Given the description of an element on the screen output the (x, y) to click on. 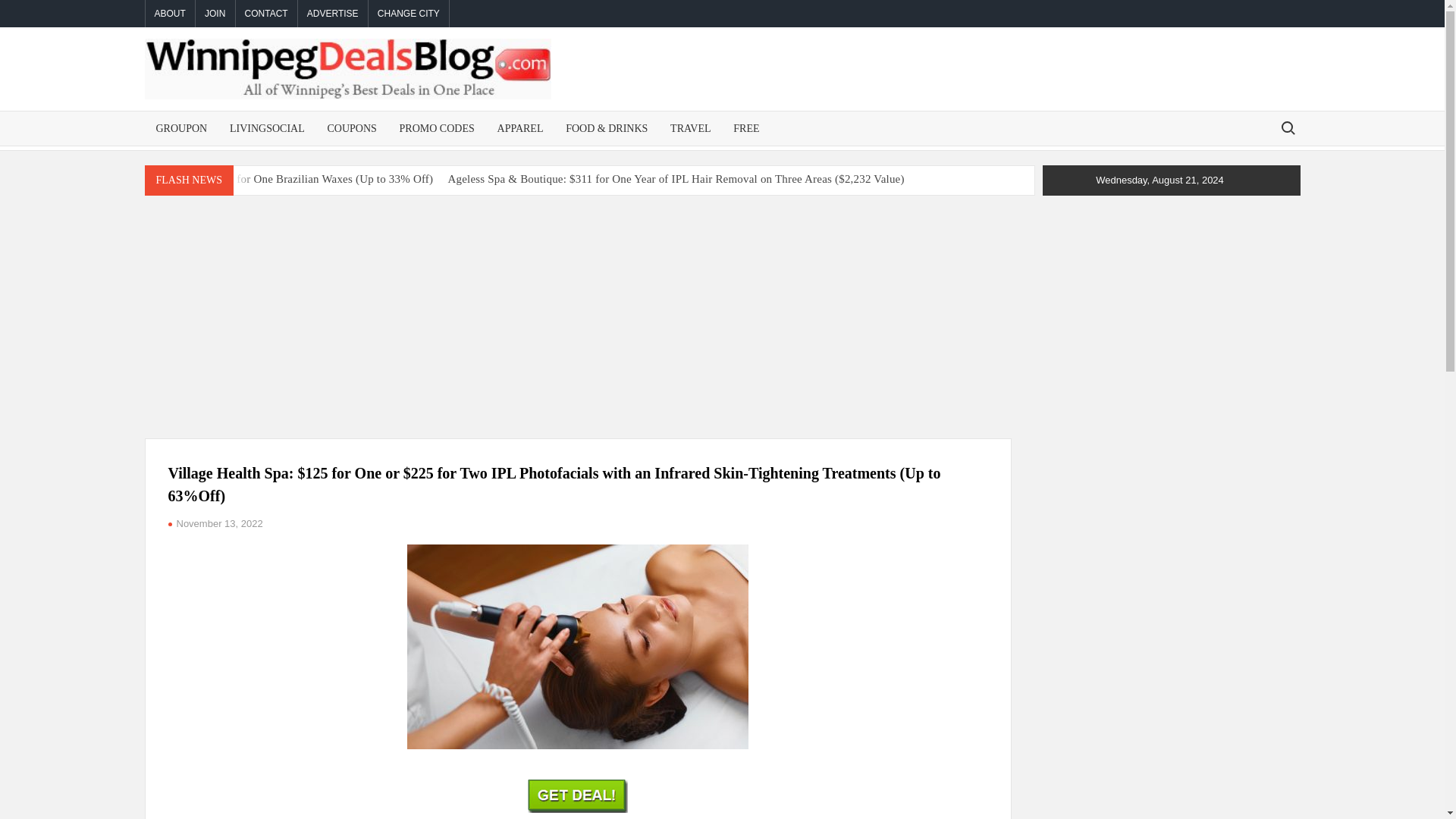
COUPONS (351, 128)
FREE (746, 128)
GROUPON (181, 128)
ADVERTISE (333, 13)
Search for: (1287, 127)
PROMO CODES (437, 128)
APPAREL (520, 128)
ABOUT (170, 13)
JOIN (214, 13)
